Given the description of an element on the screen output the (x, y) to click on. 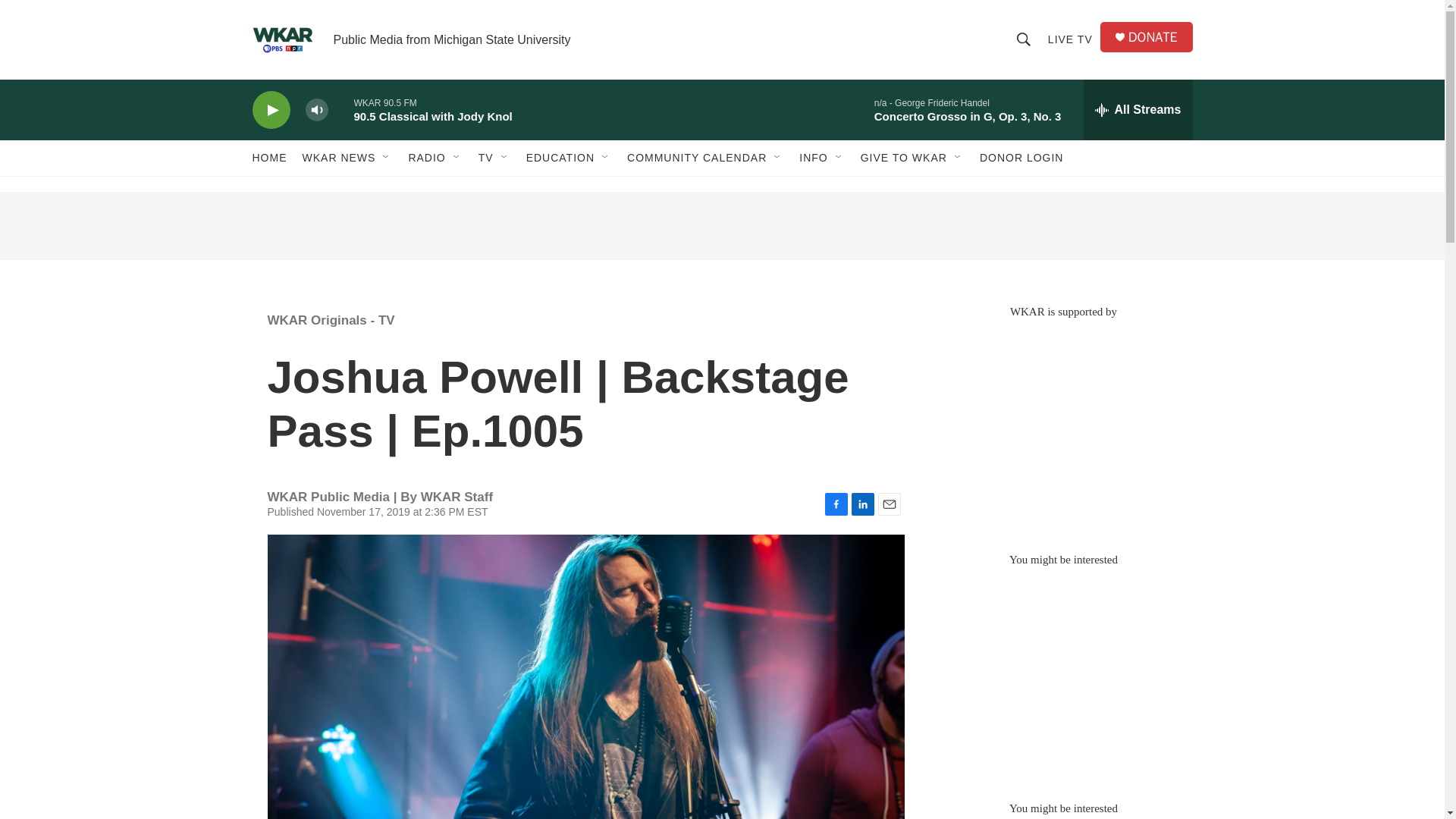
3rd party ad content (1062, 428)
3rd party ad content (1062, 677)
3rd party ad content (721, 225)
